Given the description of an element on the screen output the (x, y) to click on. 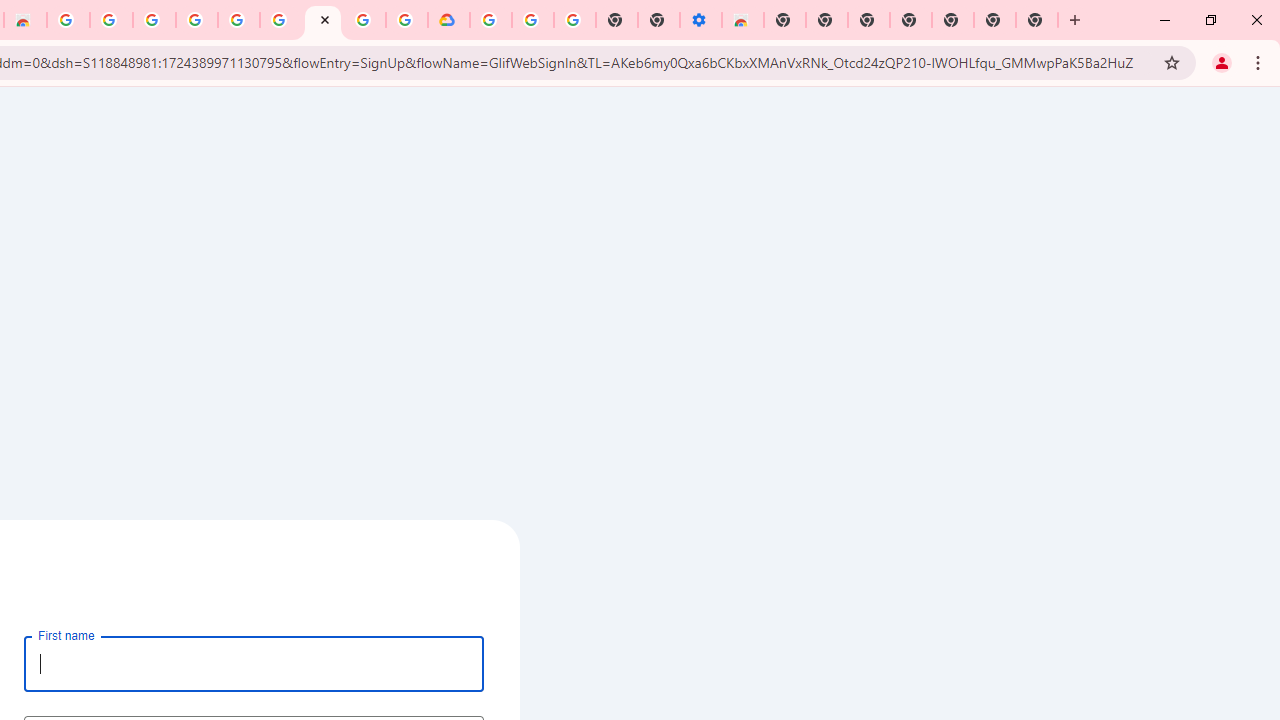
Sign in - Google Accounts (490, 20)
First name (253, 663)
Chrome Web Store - Accessibility extensions (742, 20)
Turn cookies on or off - Computer - Google Account Help (575, 20)
Google Account Help (238, 20)
